Given the description of an element on the screen output the (x, y) to click on. 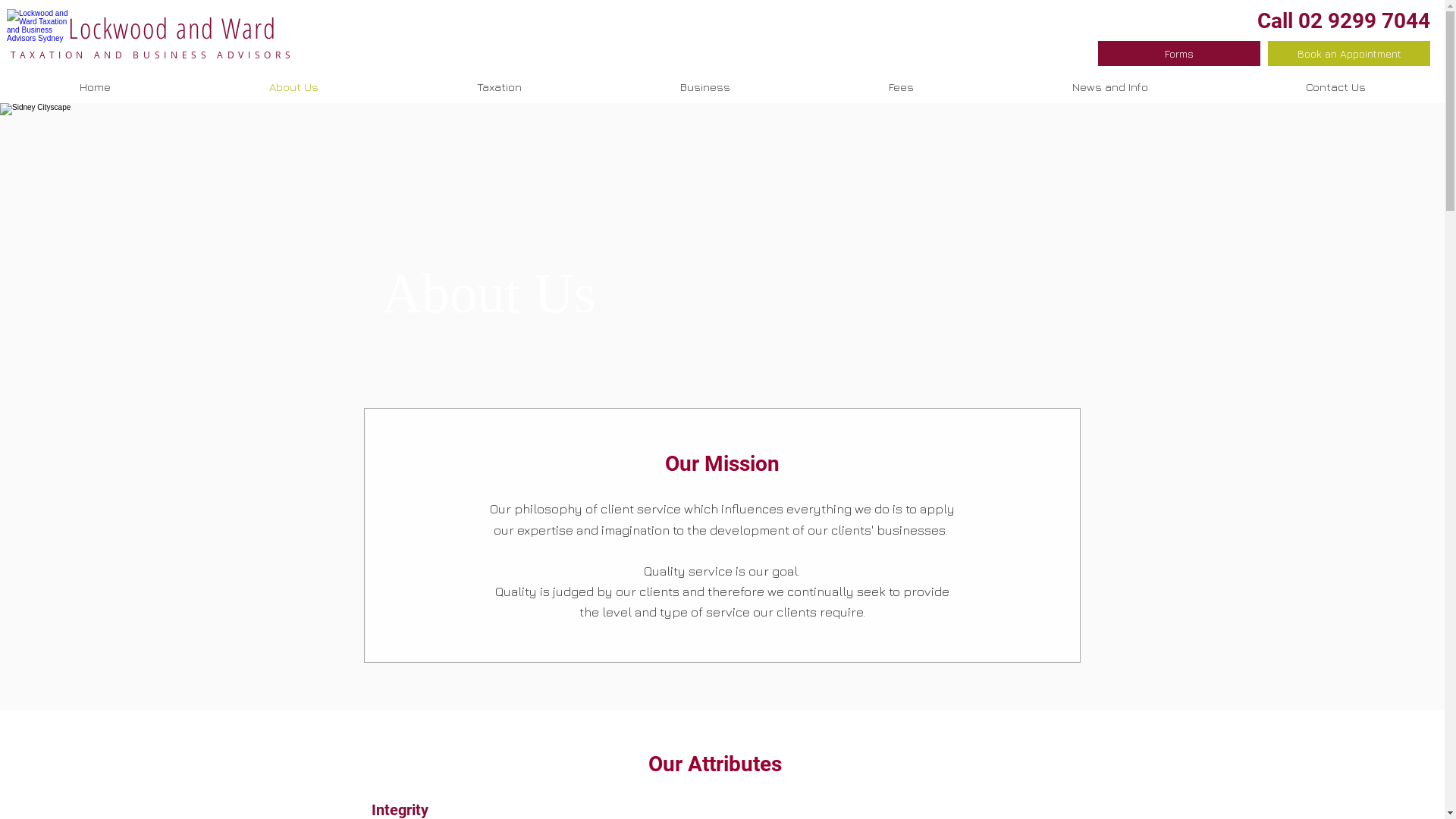
Home Element type: text (94, 87)
Forms Element type: text (1179, 52)
Fees Element type: text (900, 87)
Contact Us Element type: text (1335, 87)
Home Element type: hover (37, 28)
News and Info Element type: text (1109, 87)
About Us Element type: text (293, 87)
Taxation Element type: text (498, 87)
Book an Appointment Element type: text (1348, 52)
